Given the description of an element on the screen output the (x, y) to click on. 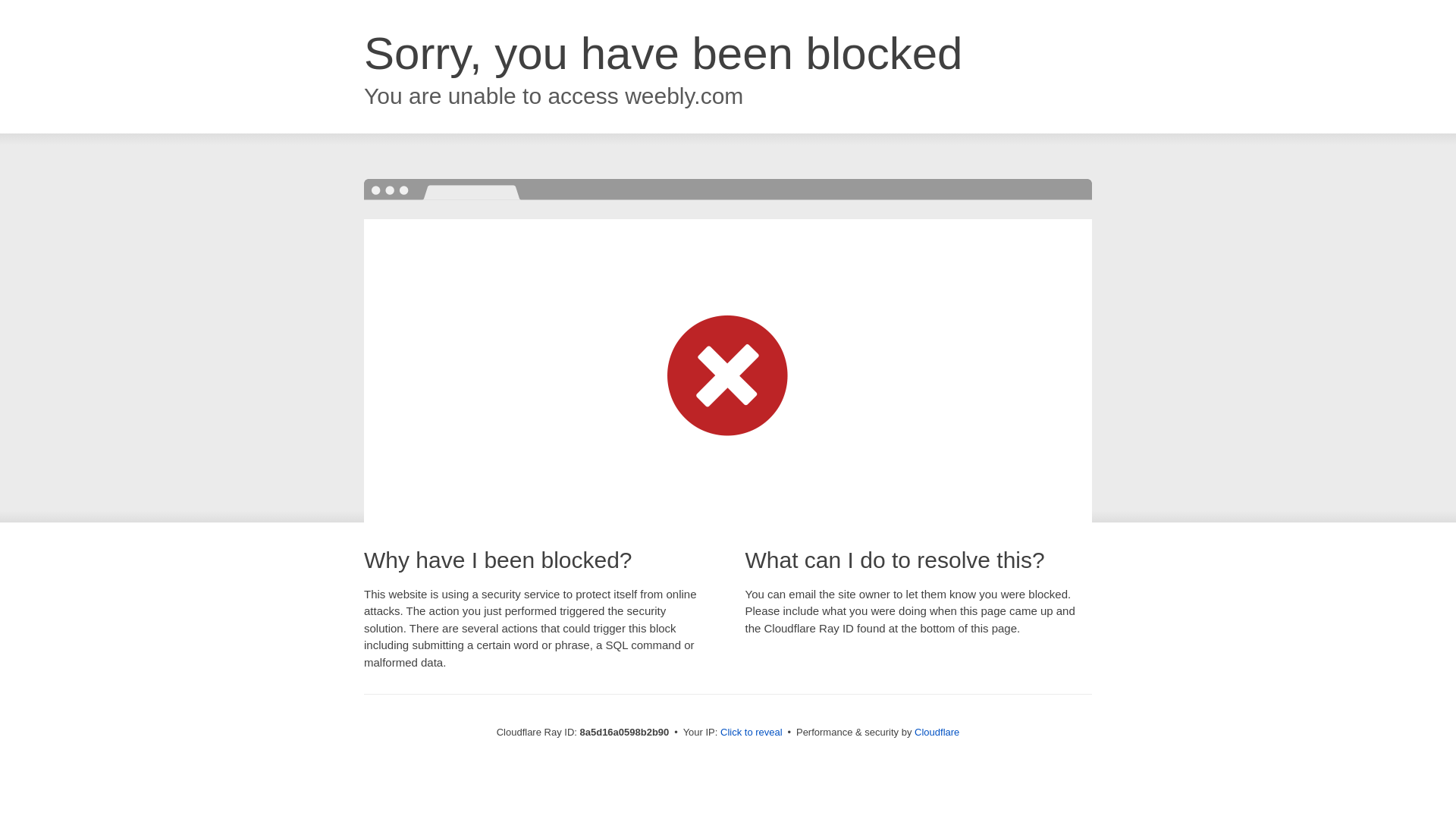
Cloudflare (936, 731)
Click to reveal (751, 732)
